Given the description of an element on the screen output the (x, y) to click on. 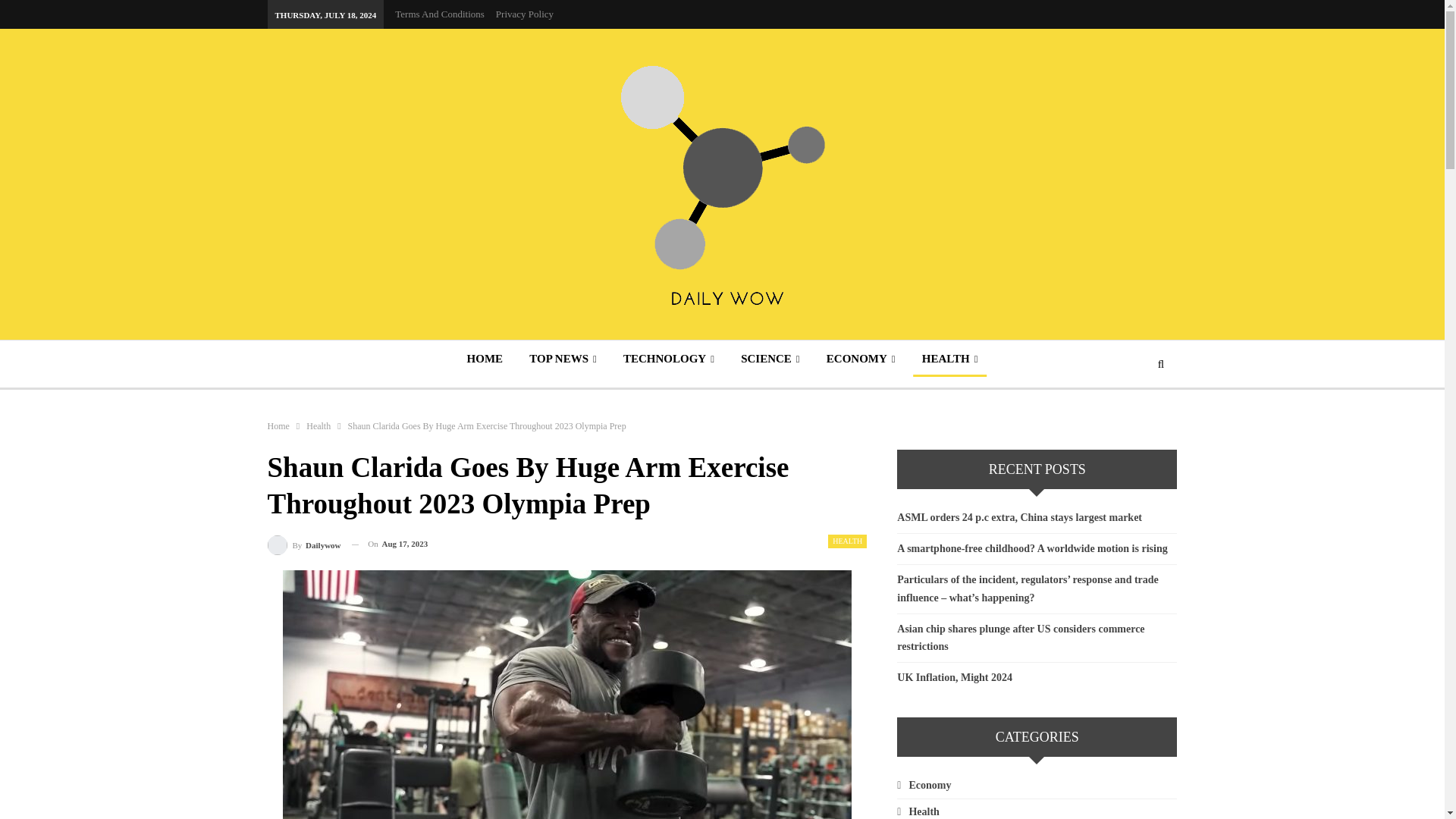
TECHNOLOGY (668, 358)
HOME (485, 358)
Privacy Policy (524, 13)
TOP NEWS (562, 358)
SCIENCE (770, 358)
Terms And Conditions (439, 13)
